Given the description of an element on the screen output the (x, y) to click on. 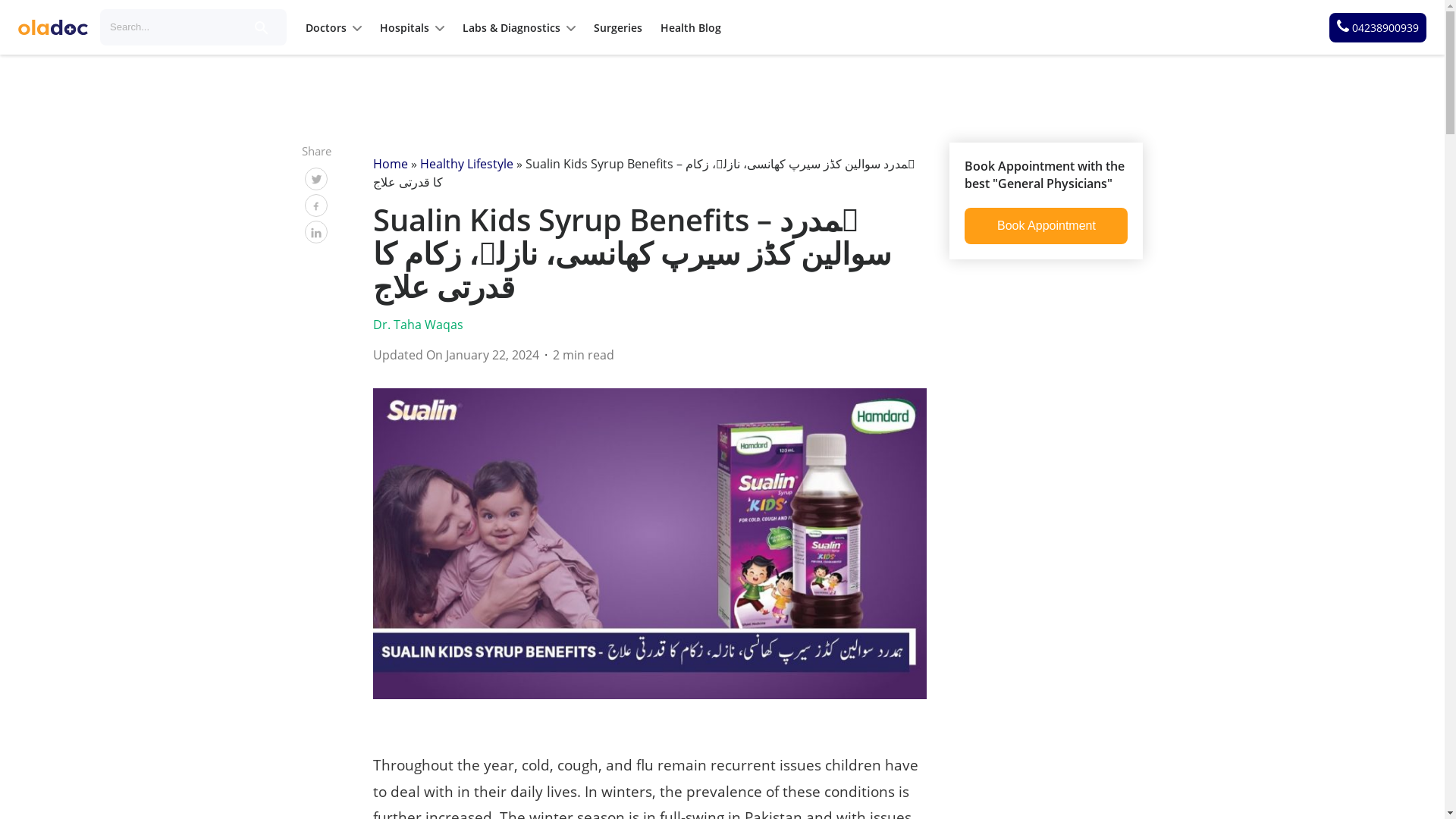
Search for: (172, 27)
